Given the description of an element on the screen output the (x, y) to click on. 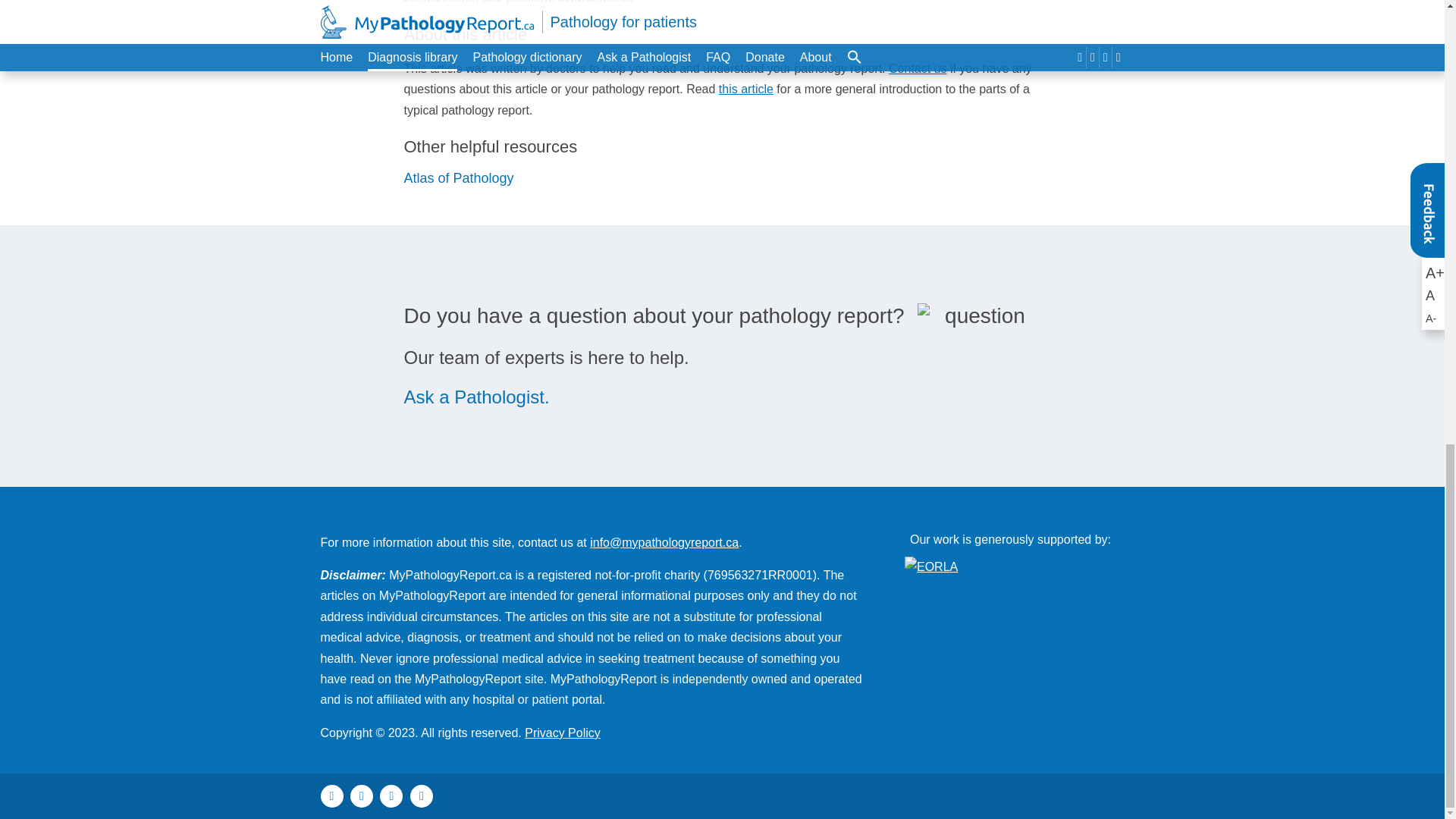
Ask a Pathologist. (475, 396)
Privacy Policy (561, 732)
Atlas of Pathology (458, 177)
Contact us (917, 68)
envelope (331, 795)
linkedin (421, 795)
twitter (391, 795)
instagram (361, 795)
this article (746, 88)
